Given the description of an element on the screen output the (x, y) to click on. 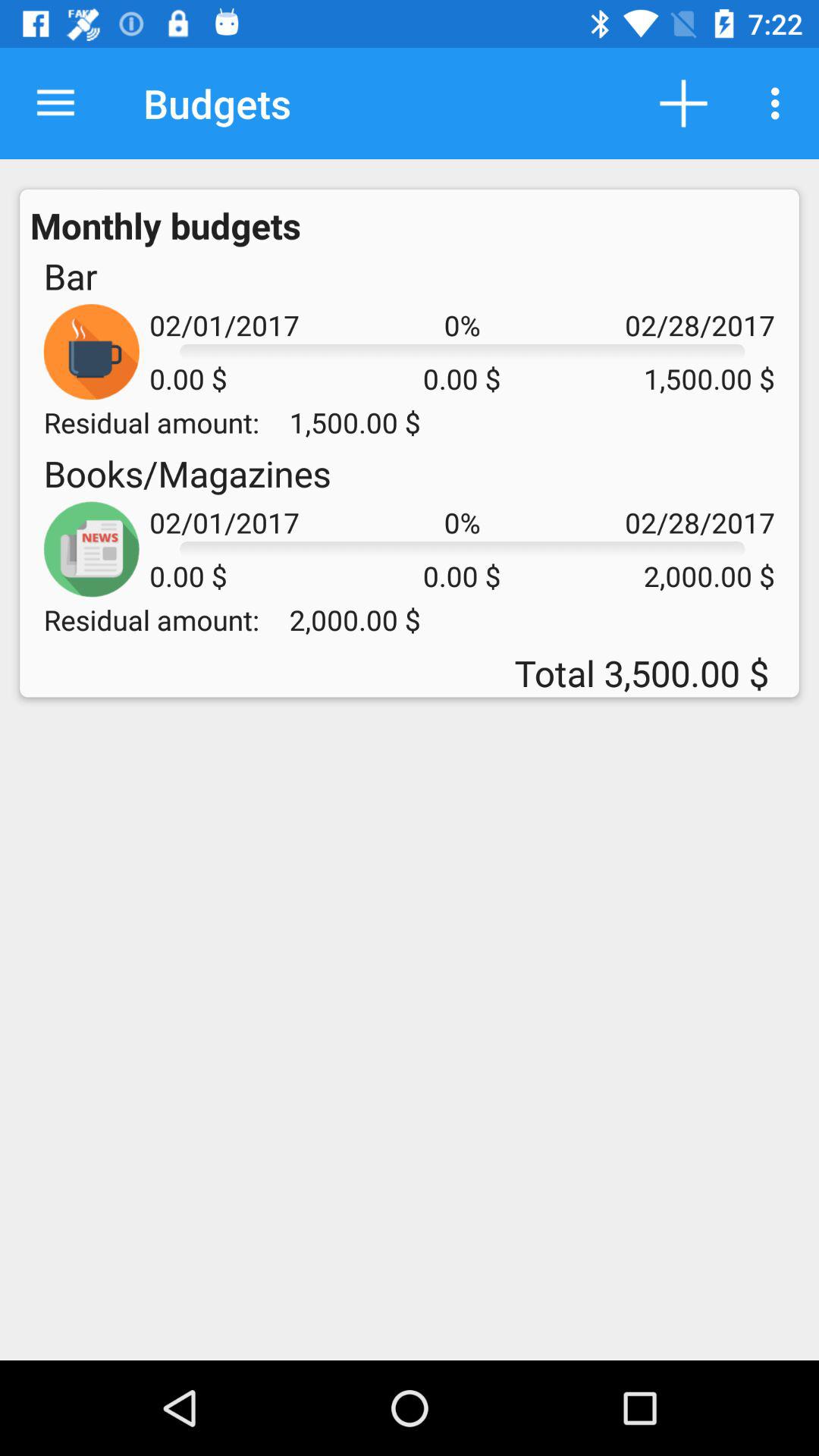
launch item next to the budgets (55, 103)
